Given the description of an element on the screen output the (x, y) to click on. 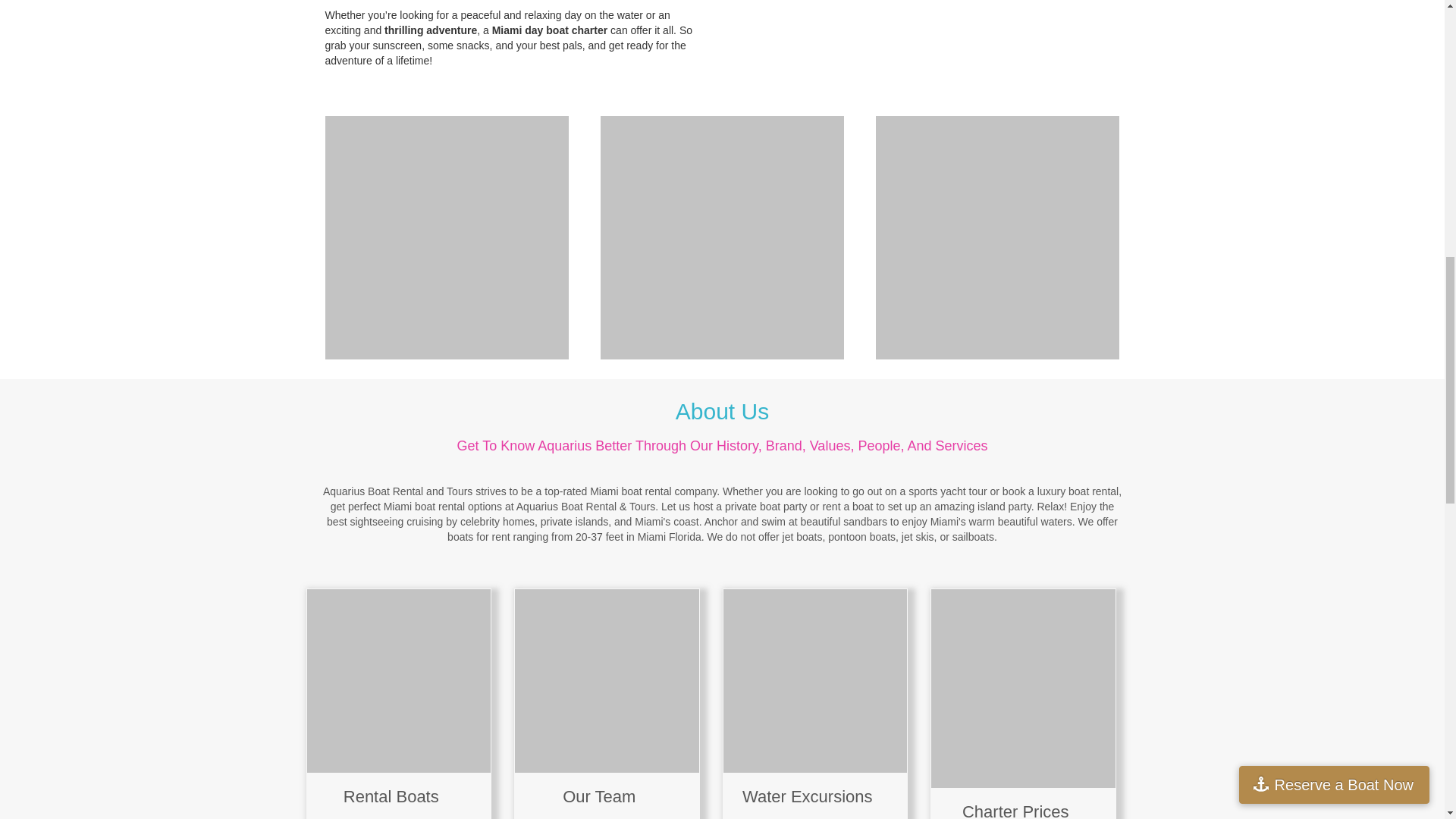
FareHarbor (1342, 64)
Book Private Island Party on Miami Boat Rental (397, 680)
Los mejores barco en alquiler en Miami (606, 680)
Rental boats (391, 796)
